Given the description of an element on the screen output the (x, y) to click on. 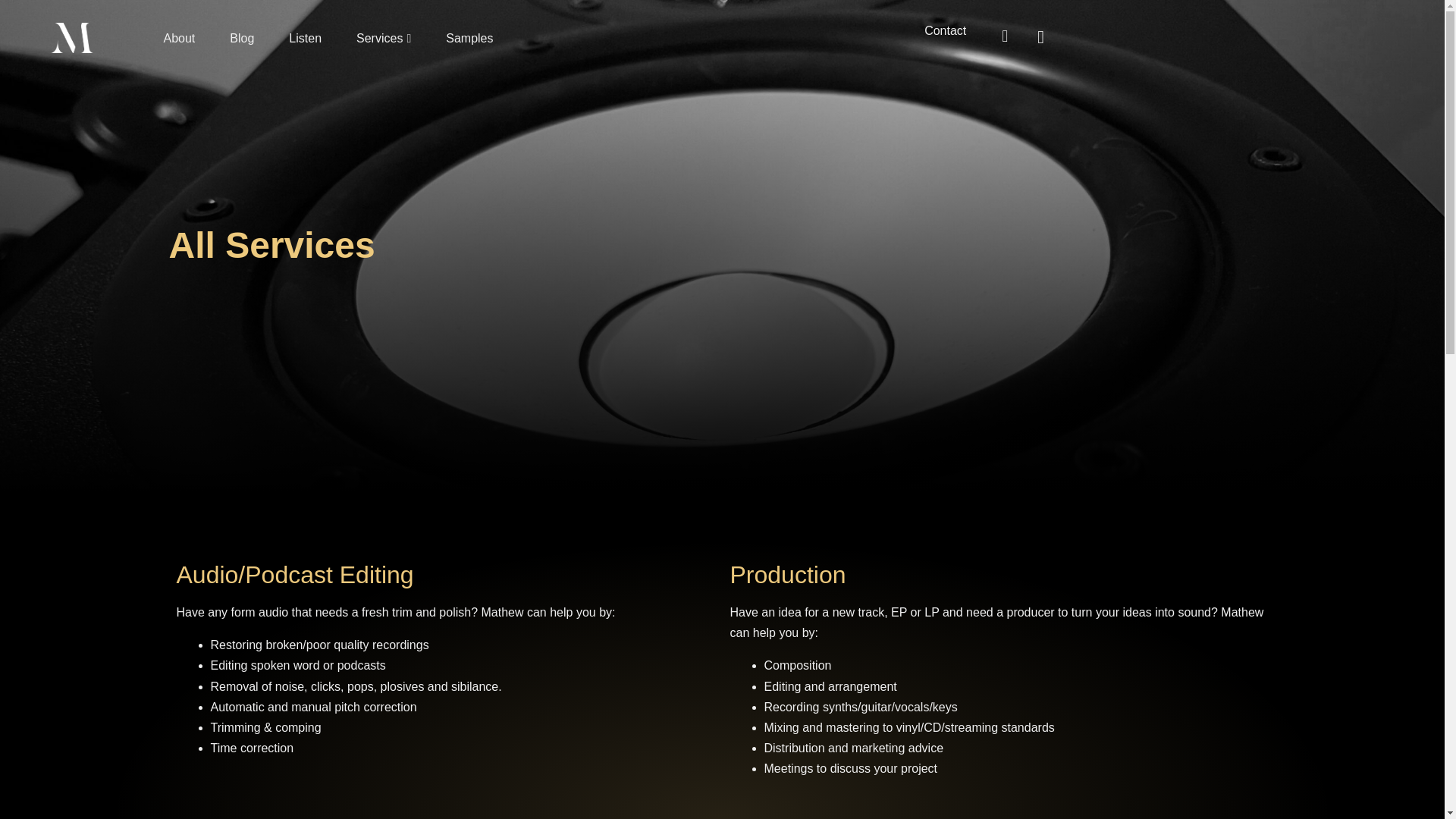
Production (787, 574)
Mixing (211, 818)
Listen (304, 37)
About (178, 37)
Contact (948, 30)
Mastering (782, 818)
Skip to content (11, 31)
Services (383, 37)
Samples (469, 37)
